Given the description of an element on the screen output the (x, y) to click on. 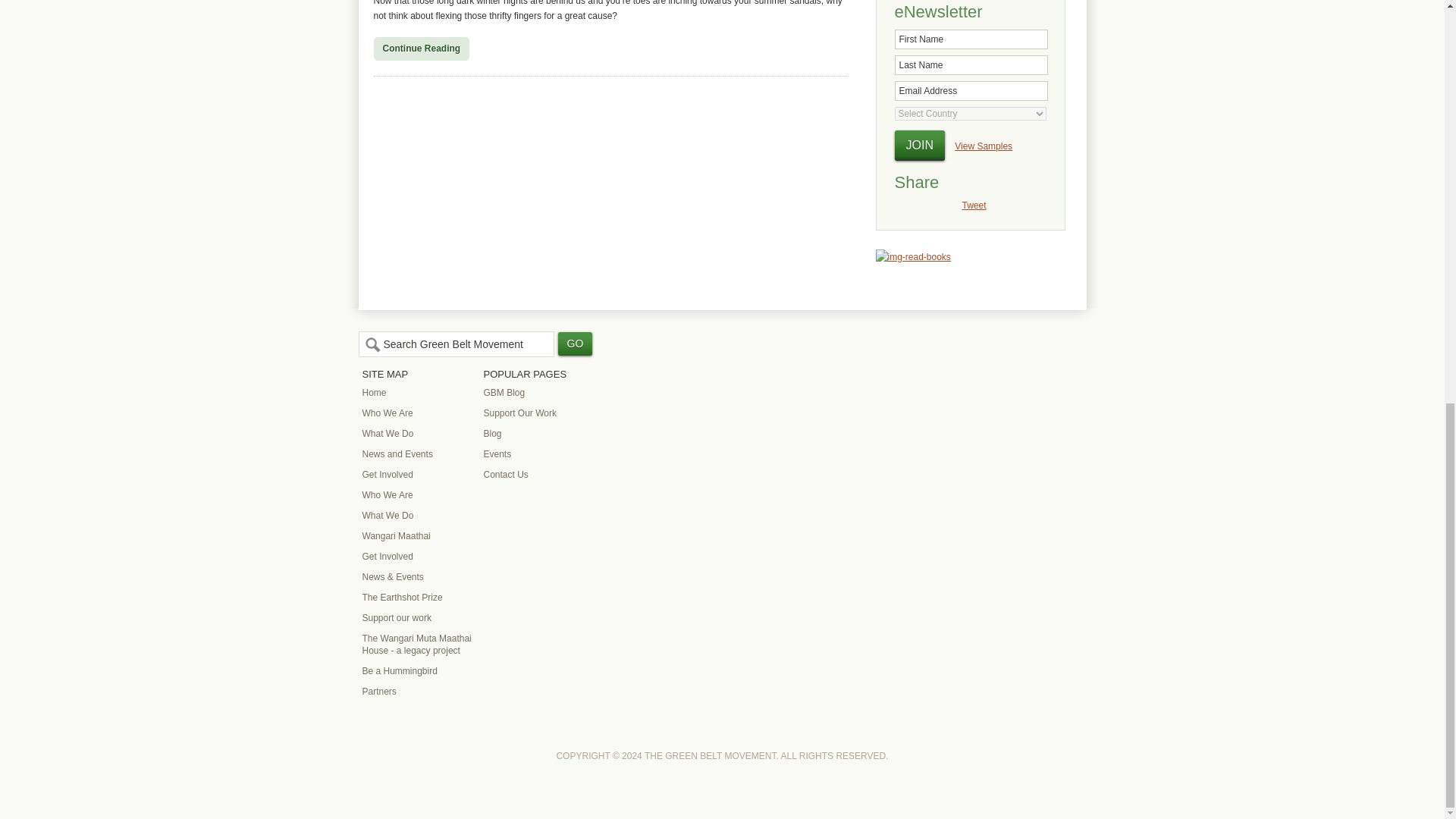
Email Address (971, 90)
Search Green Belt Movement (455, 344)
First Name (971, 39)
Last Name (971, 65)
